Given the description of an element on the screen output the (x, y) to click on. 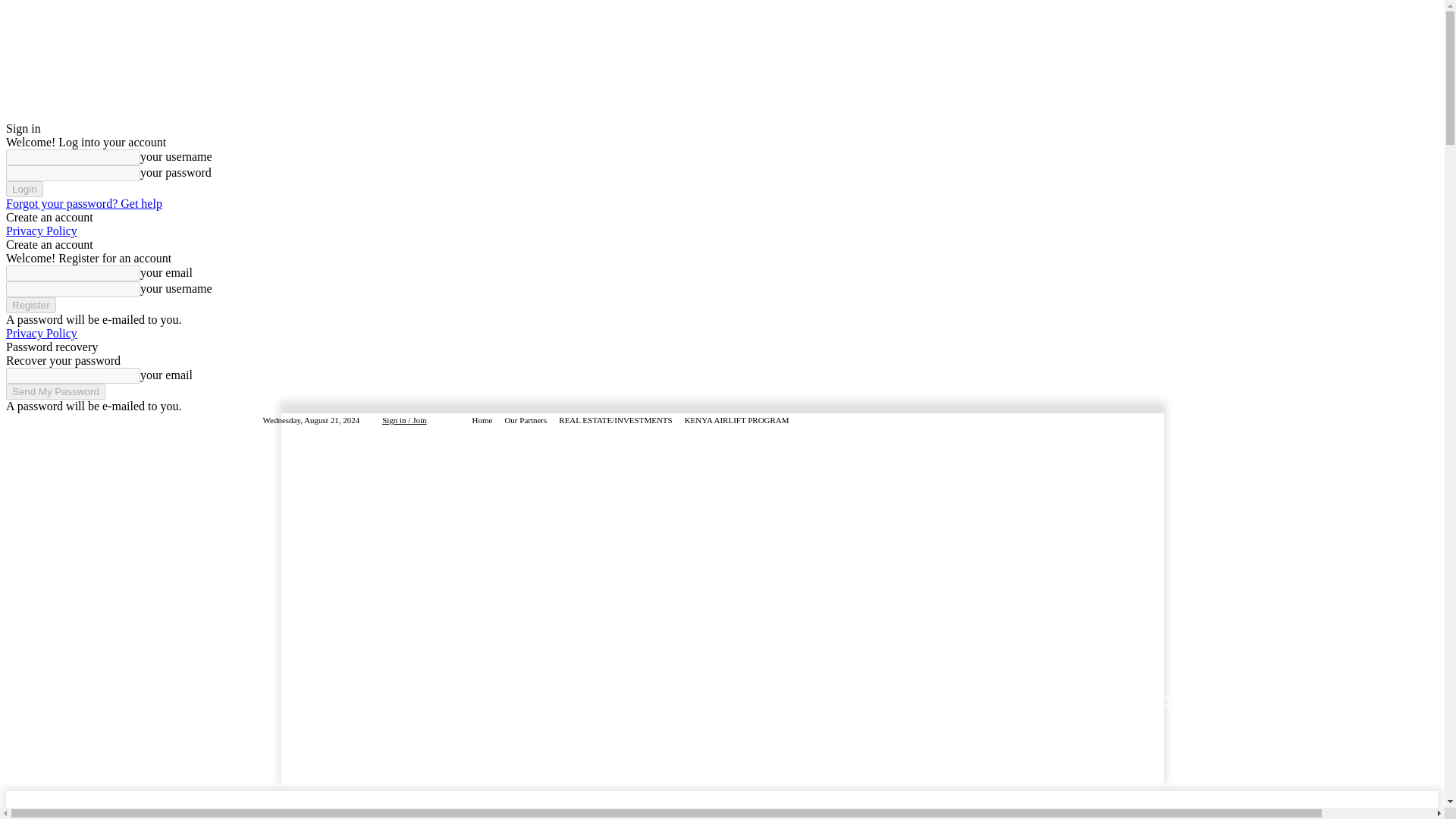
KENYA AIRLIFT PROGRAM (736, 420)
KENYA NEWS (374, 700)
Diaspora Messenger (556, 519)
Create an account (49, 216)
OBITUARIES (746, 700)
Home (482, 420)
KENYA DIASPORA NEWS (486, 700)
Privacy Policy (41, 332)
Send My Password (54, 391)
Privacy Policy (41, 230)
